Given the description of an element on the screen output the (x, y) to click on. 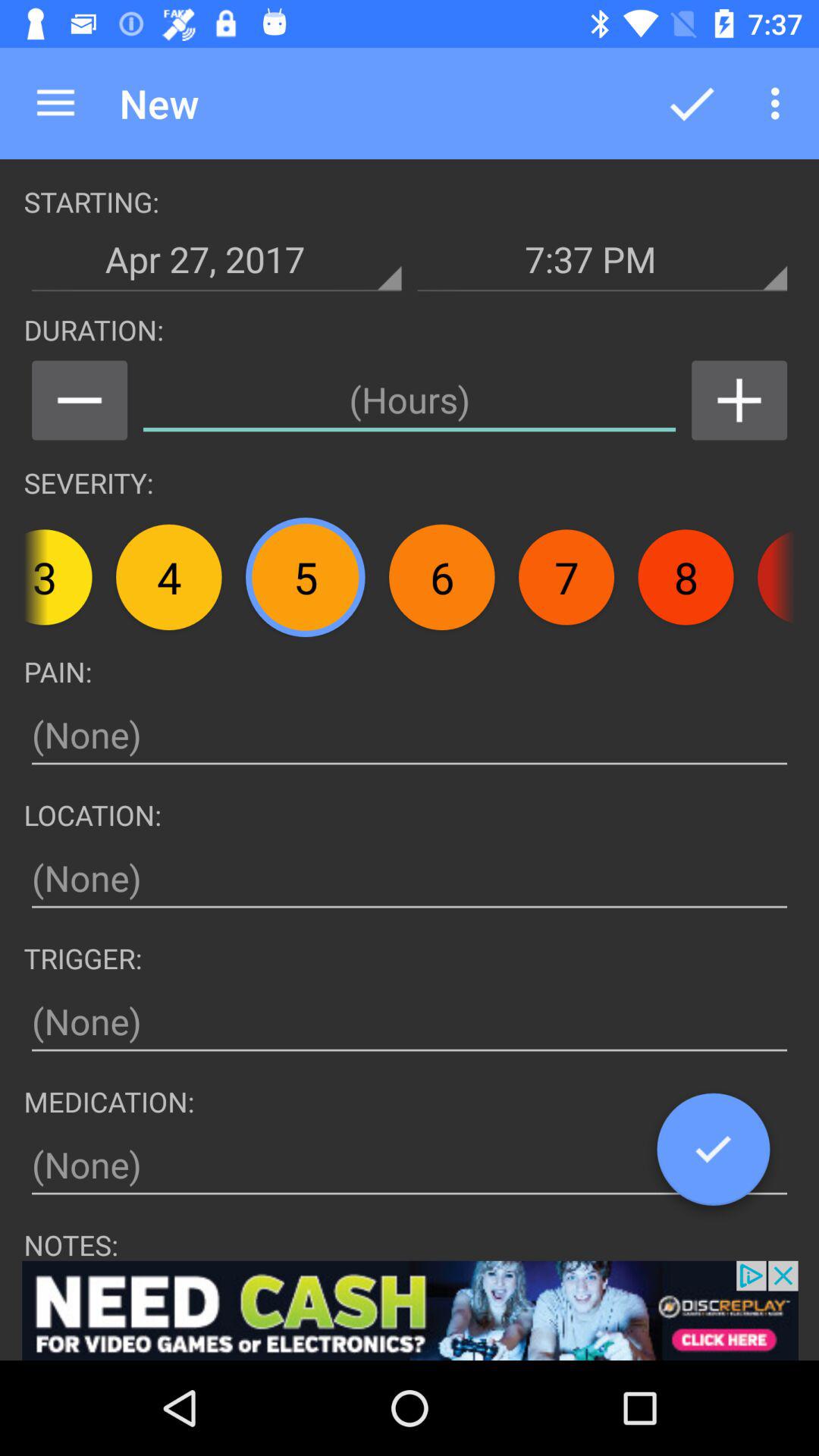
select option (713, 1155)
